Given the description of an element on the screen output the (x, y) to click on. 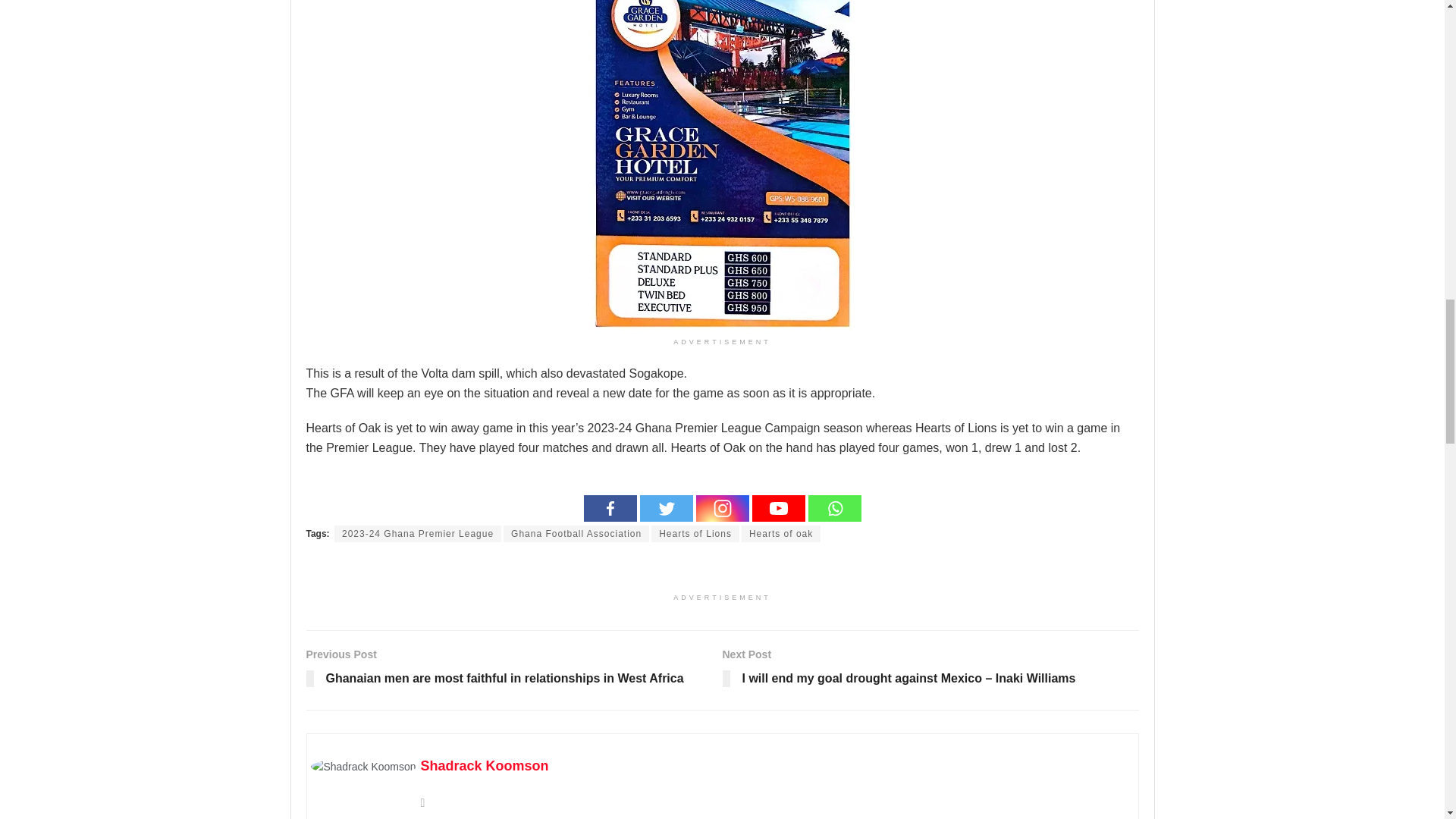
Facebook (610, 508)
Whatsapp (834, 508)
Twitter (666, 508)
Instagram (722, 508)
Youtube (778, 508)
